Given the description of an element on the screen output the (x, y) to click on. 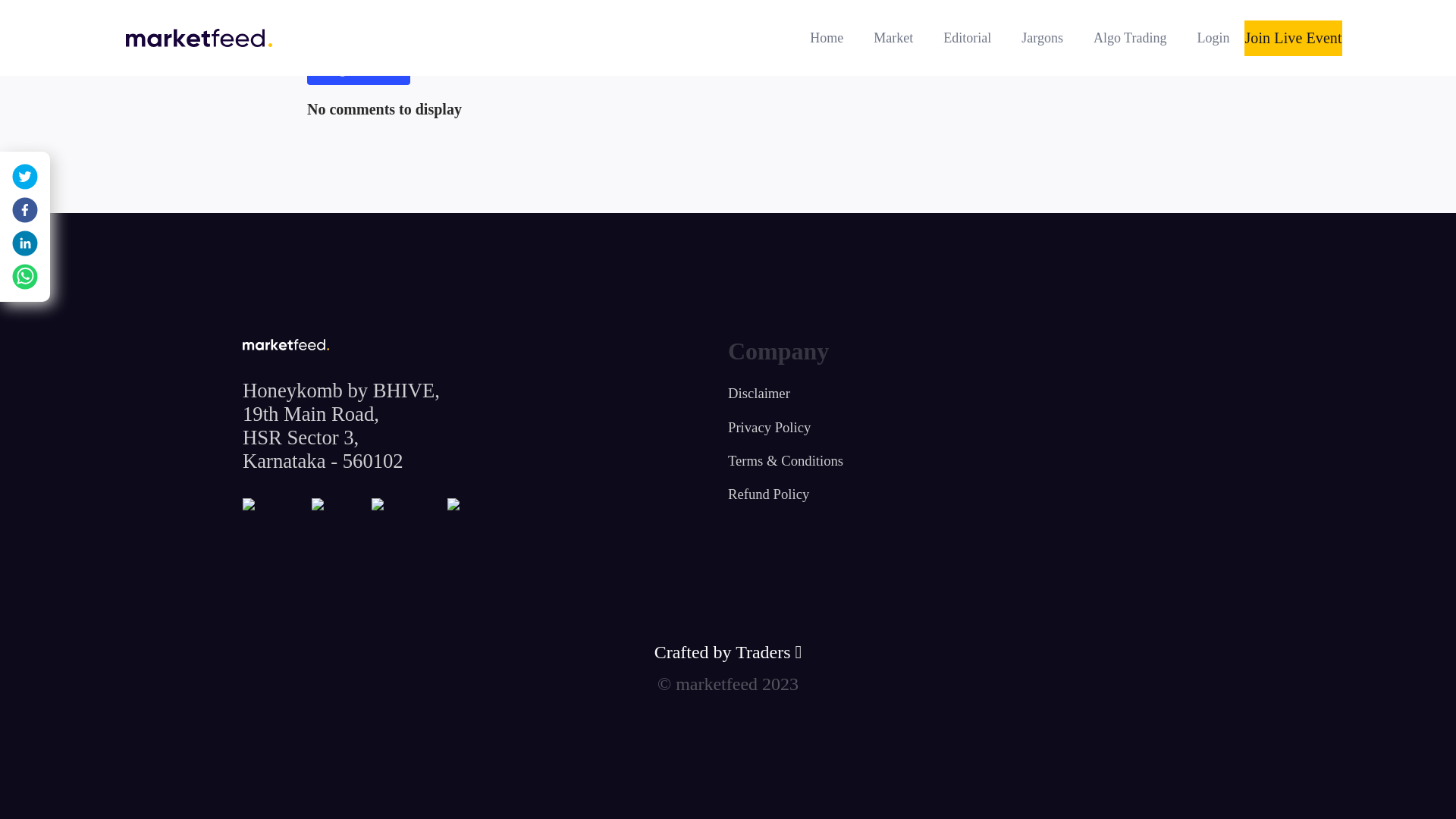
Disclaimer (759, 399)
Privacy Policy (769, 433)
Refund Policy (768, 500)
Login to Post (358, 69)
